Given the description of an element on the screen output the (x, y) to click on. 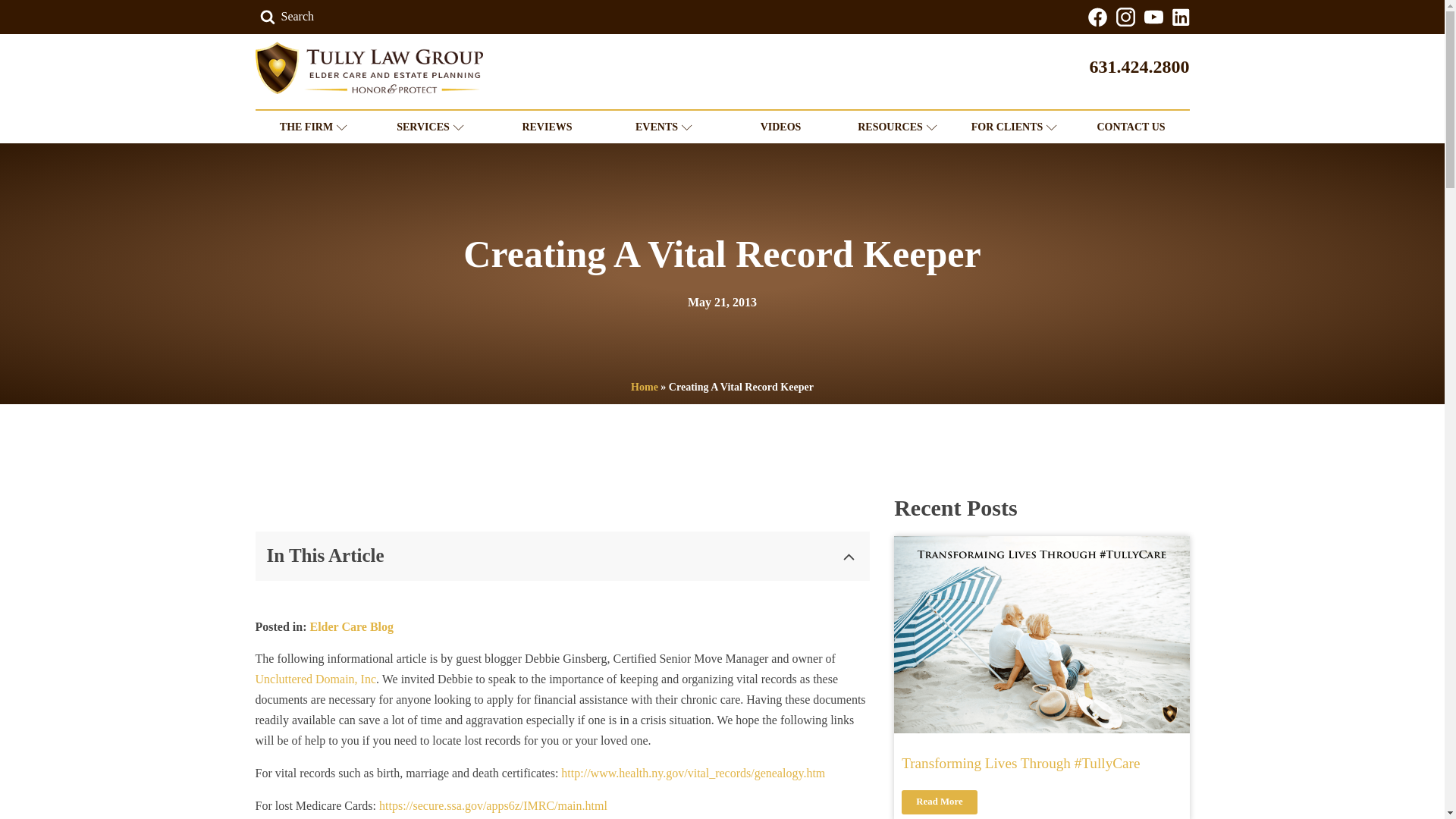
VIDEOS (780, 127)
Search (286, 16)
CONTACT US (1130, 127)
SERVICES (429, 127)
THE FIRM (312, 127)
RESOURCES (896, 127)
Search (22, 12)
FOR CLIENTS (1013, 127)
631.424.2800 (1139, 67)
EVENTS (663, 127)
REVIEWS (546, 127)
